Given the description of an element on the screen output the (x, y) to click on. 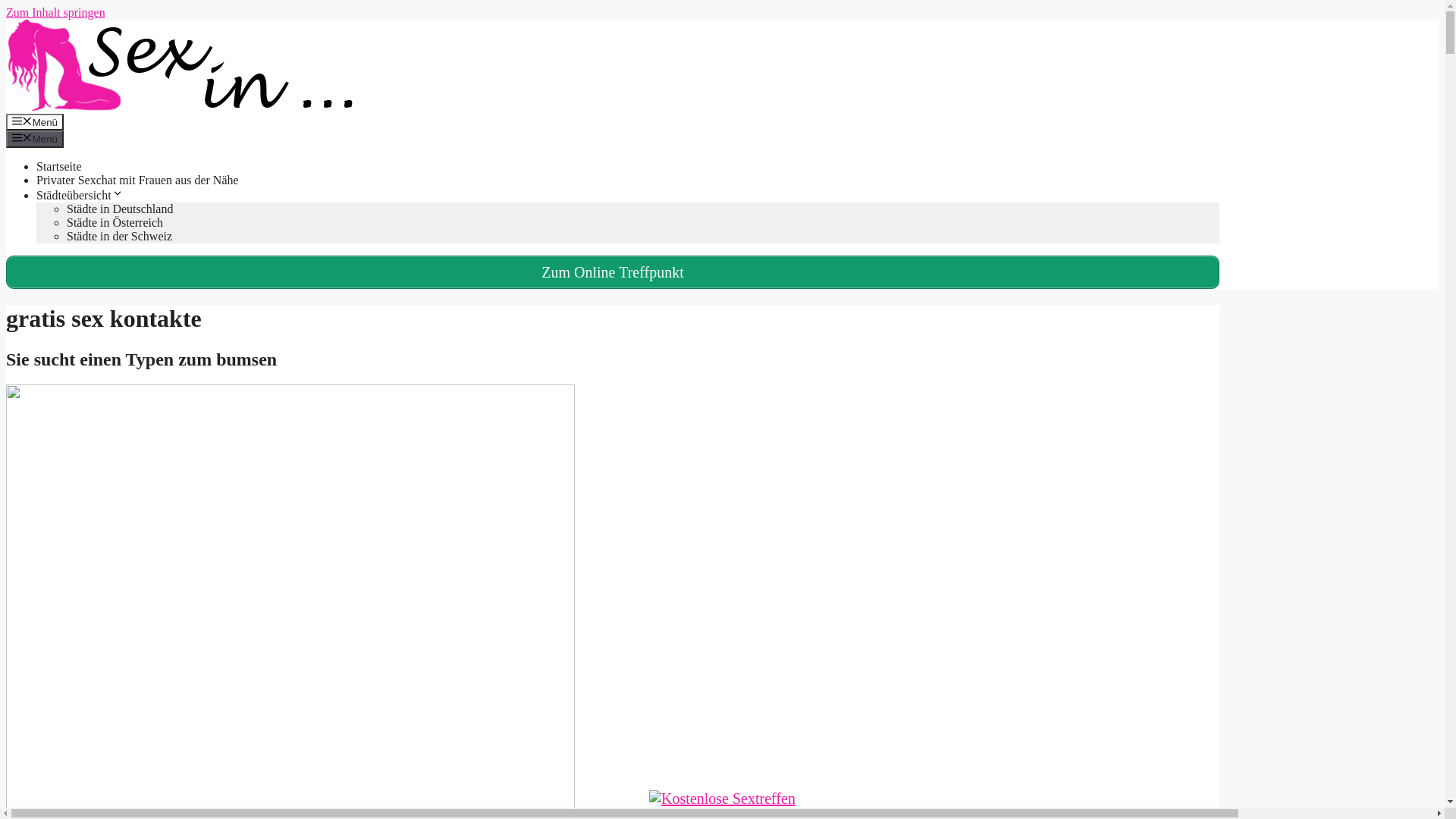
Sie sucht einen Typen zum bumsen Element type: text (141, 359)
Zum Online Treffpunkt Element type: text (612, 271)
Startseite Element type: text (58, 166)
Zum Inhalt springen Element type: text (55, 12)
